Given the description of an element on the screen output the (x, y) to click on. 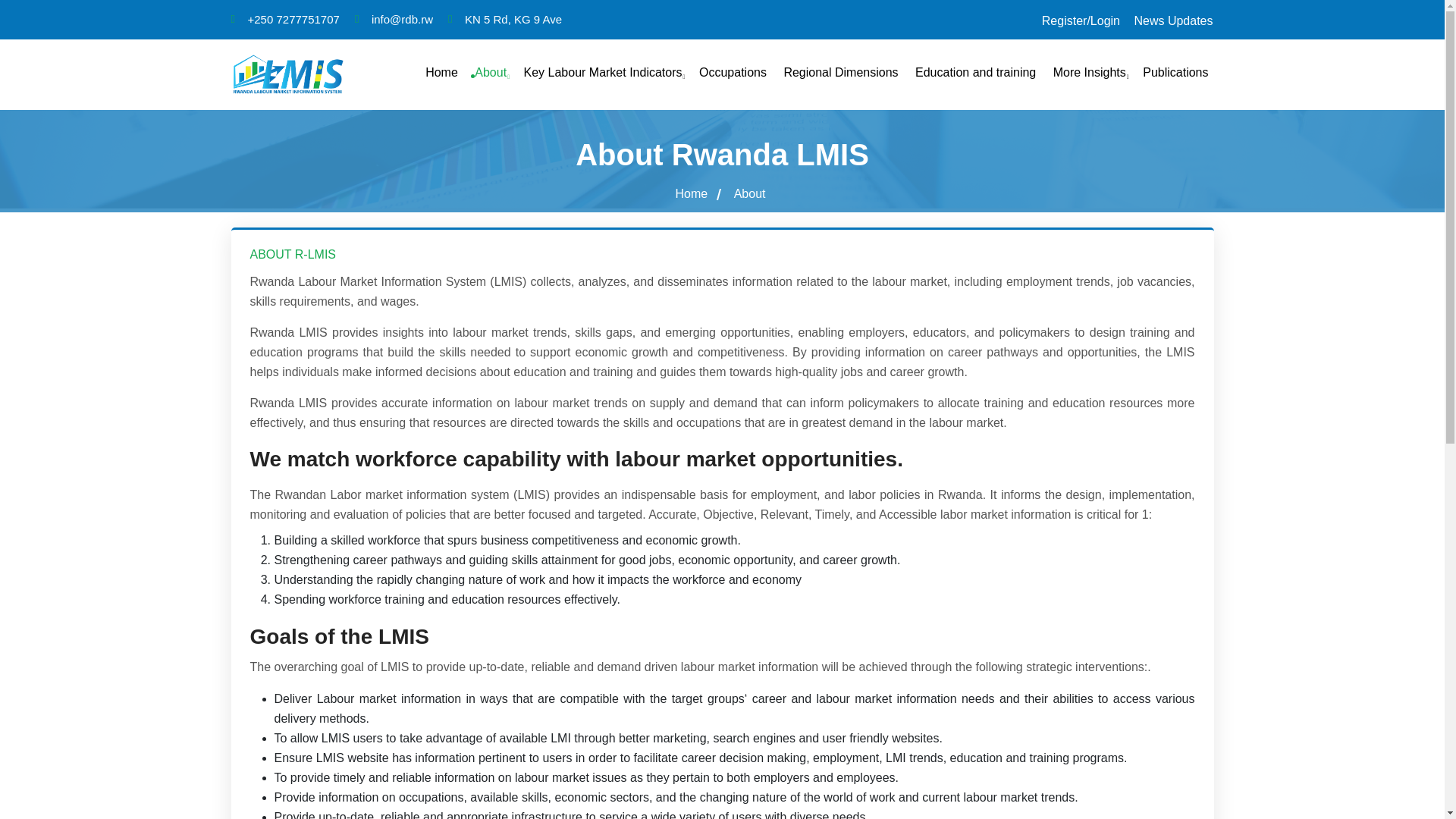
About (488, 74)
Occupations (730, 74)
Education and training (974, 74)
Key Labour Market Indicators (601, 74)
Home (439, 74)
Home (693, 193)
About (750, 193)
News Updates (1172, 20)
Regional Dimensions (838, 74)
Publications (1173, 74)
